Given the description of an element on the screen output the (x, y) to click on. 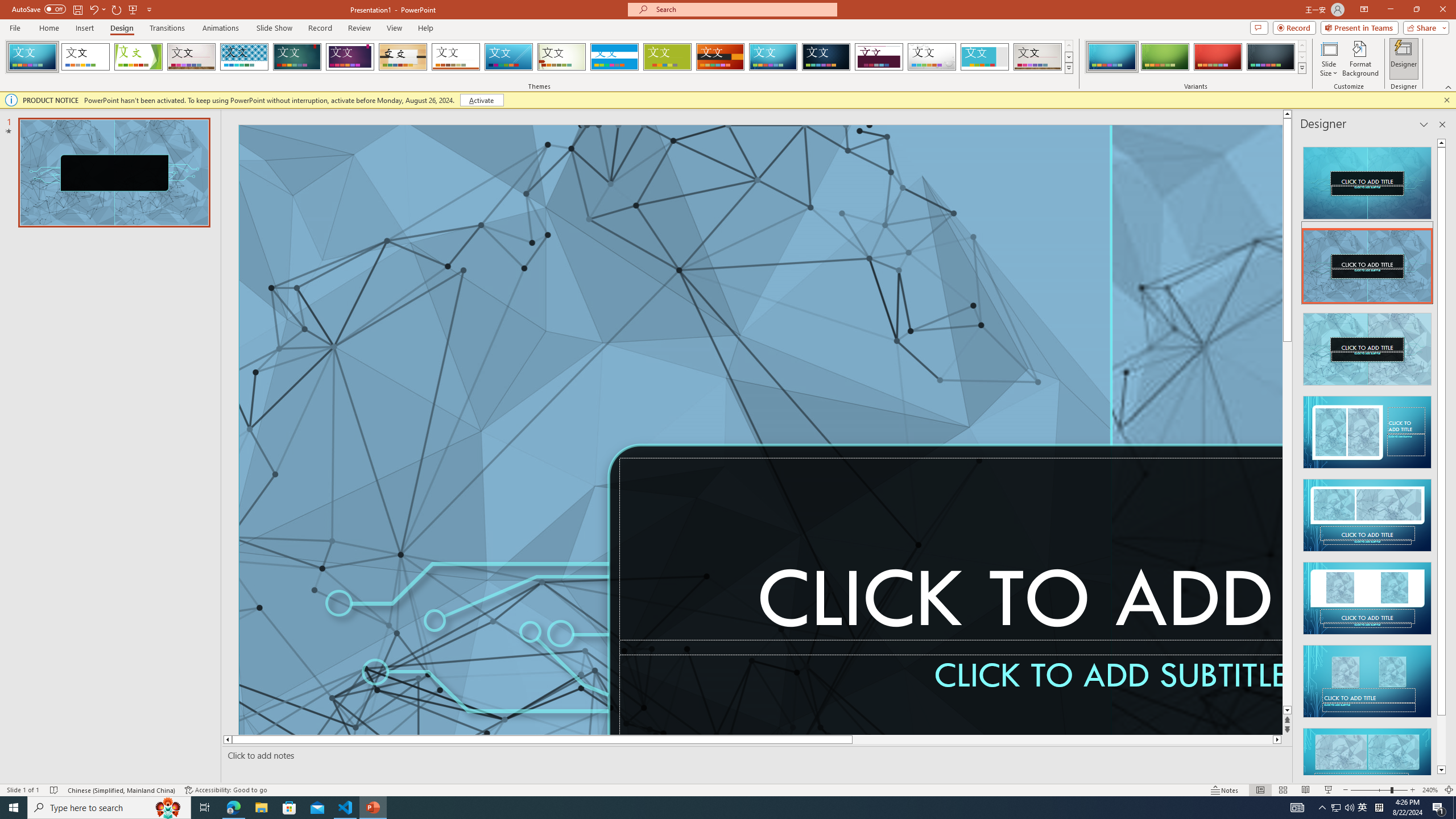
Circuit Variant 1 (1112, 56)
Organic (403, 56)
